Given the description of an element on the screen output the (x, y) to click on. 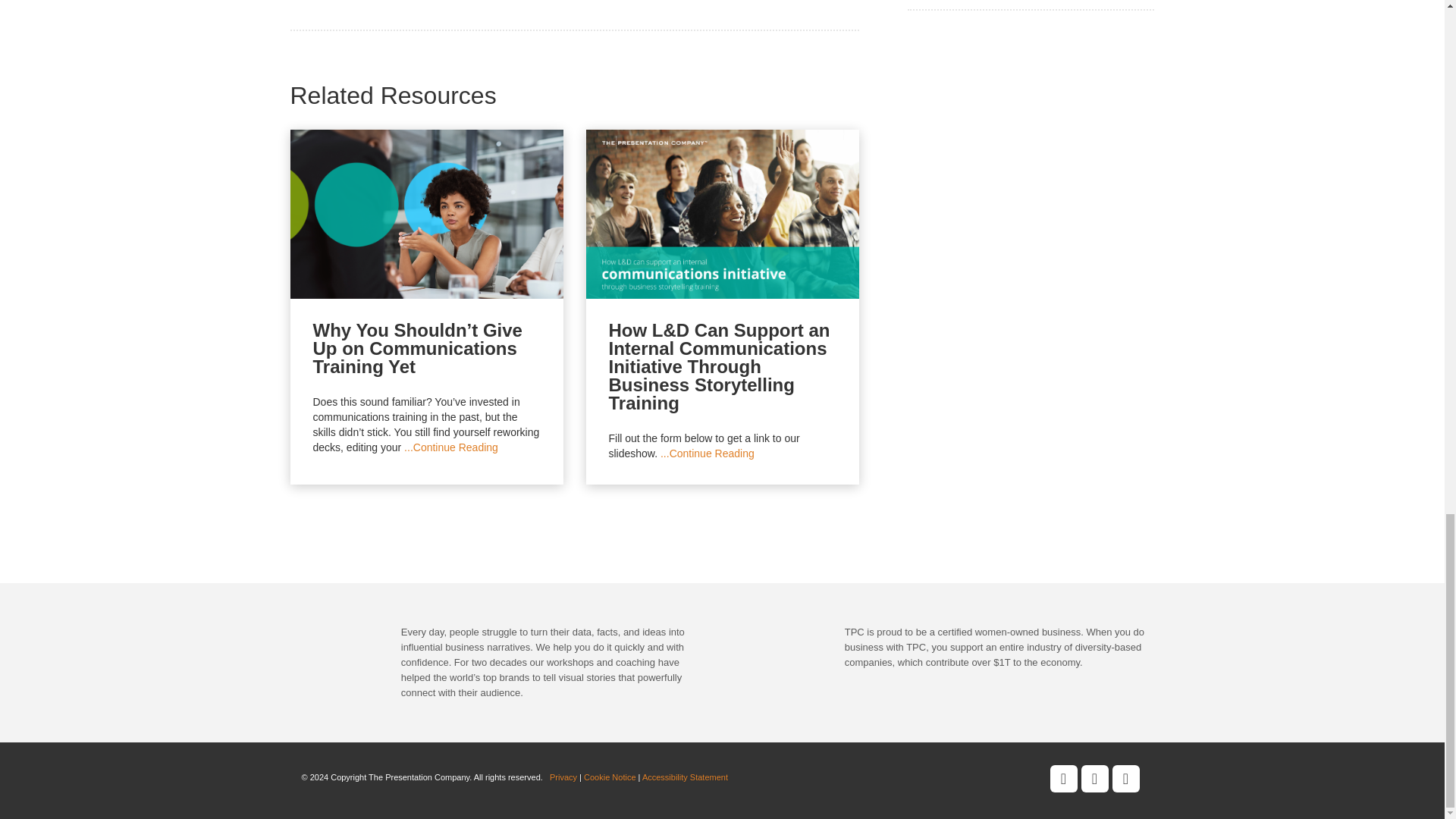
Twitter (1094, 779)
Linkedin (1125, 779)
Facebook (1063, 779)
